Given the description of an element on the screen output the (x, y) to click on. 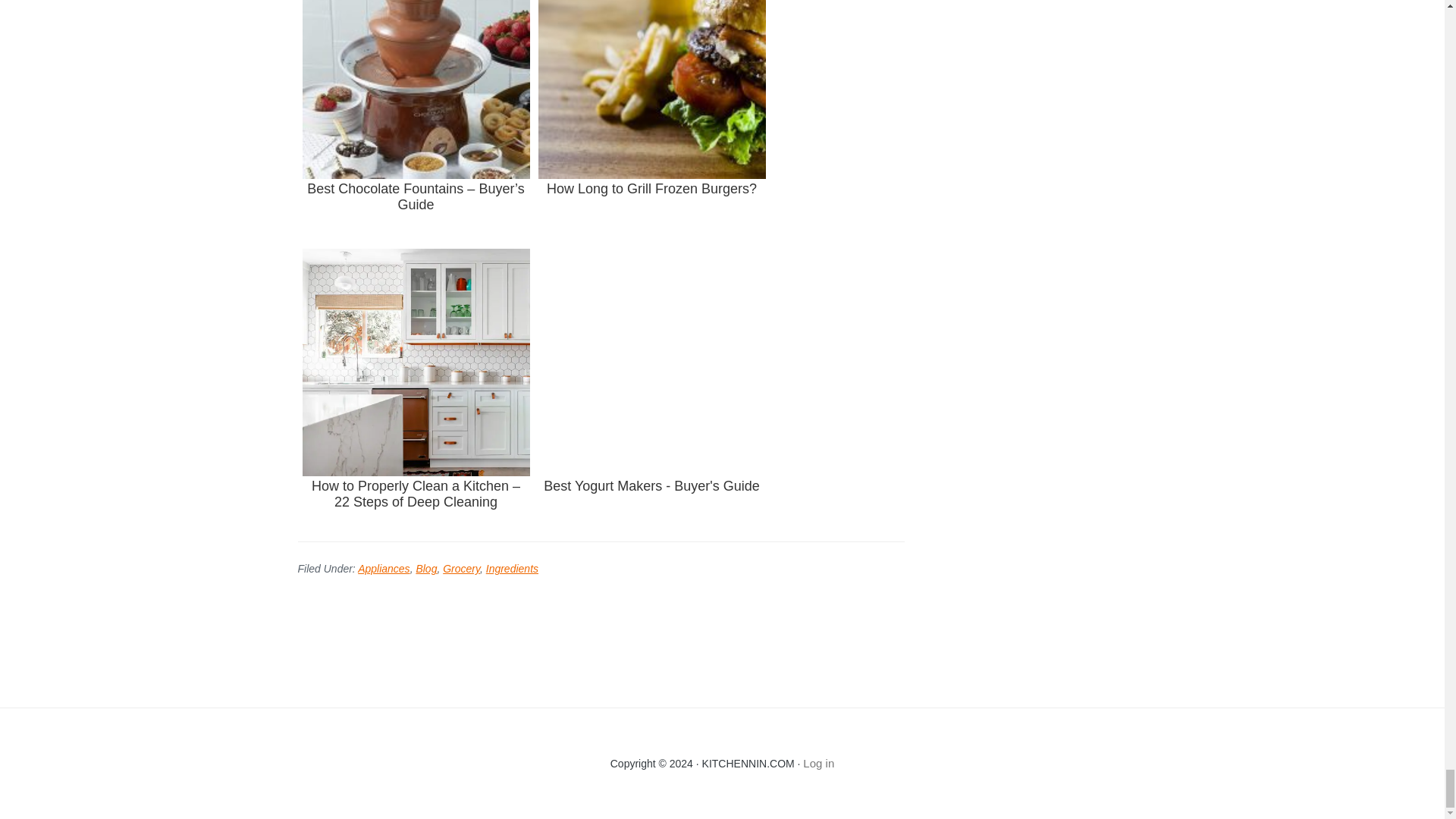
Appliances (384, 568)
How Long to Grill Frozen Burgers? (652, 120)
Grocery (461, 568)
Blog (425, 568)
